Given the description of an element on the screen output the (x, y) to click on. 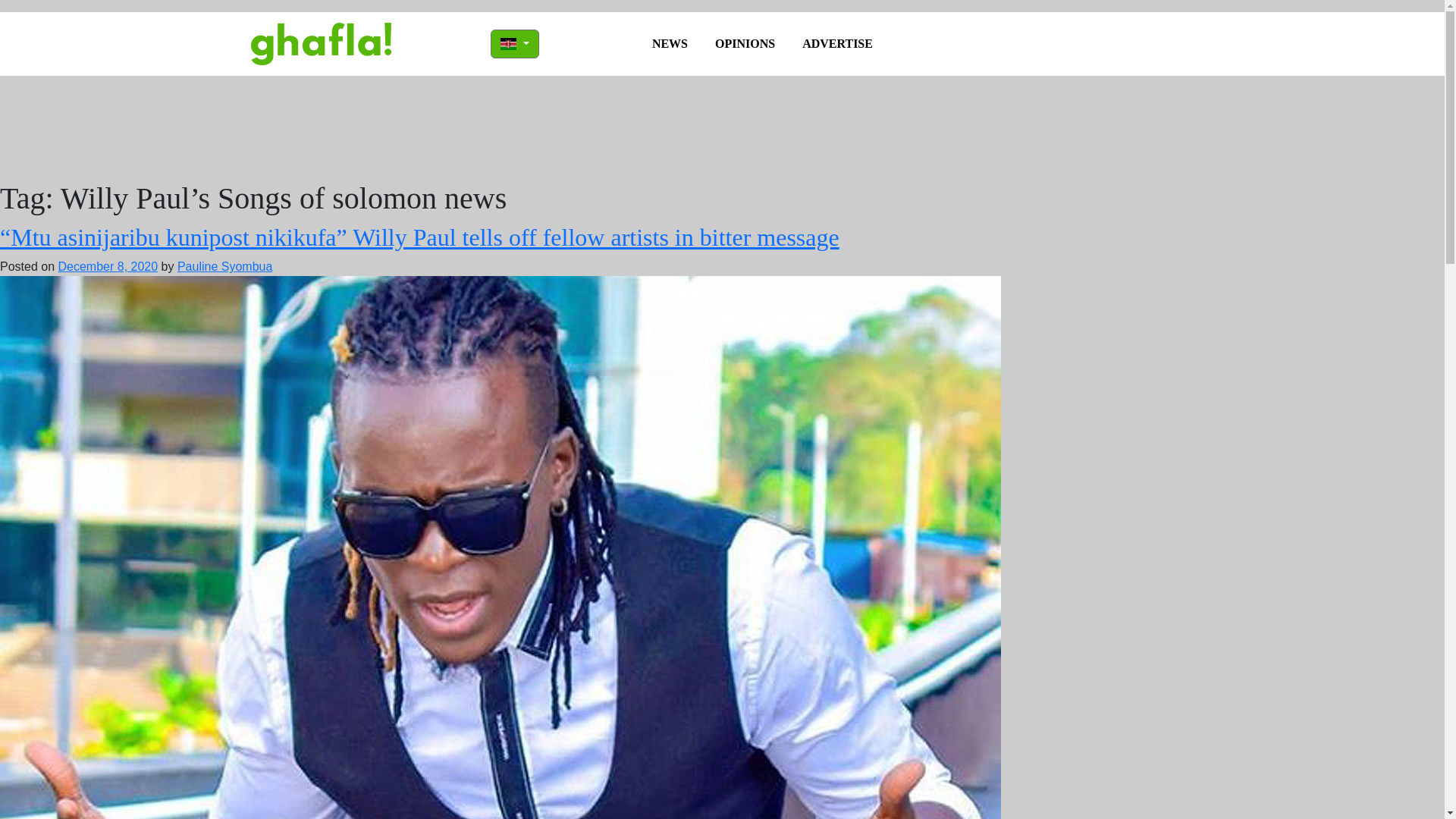
December 8, 2020 (107, 266)
ADVERTISE (837, 43)
Pauline Syombua (224, 266)
NEWS (670, 43)
OPINIONS (744, 43)
